Given the description of an element on the screen output the (x, y) to click on. 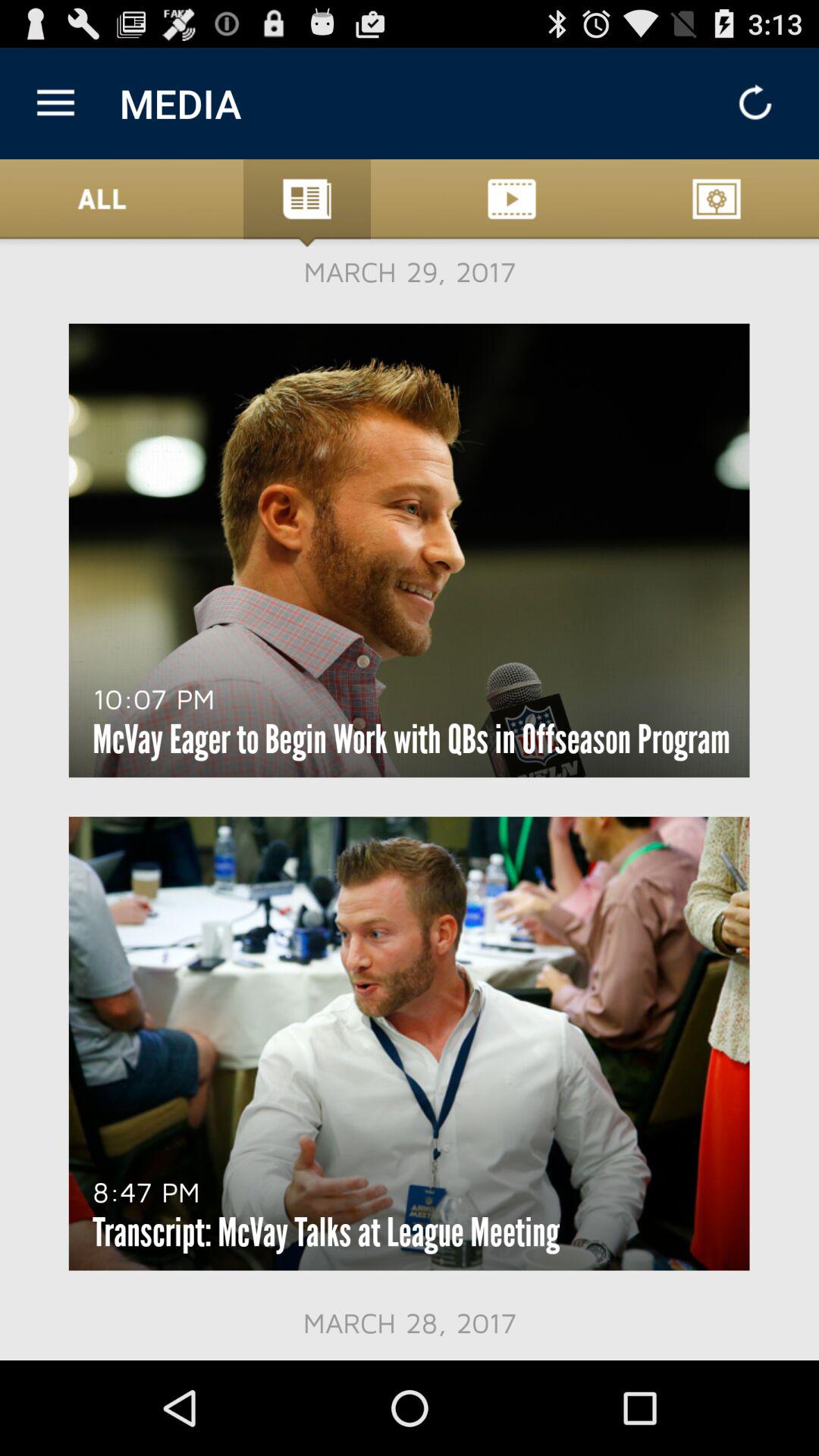
click item above the mcvay eager to icon (153, 698)
